Given the description of an element on the screen output the (x, y) to click on. 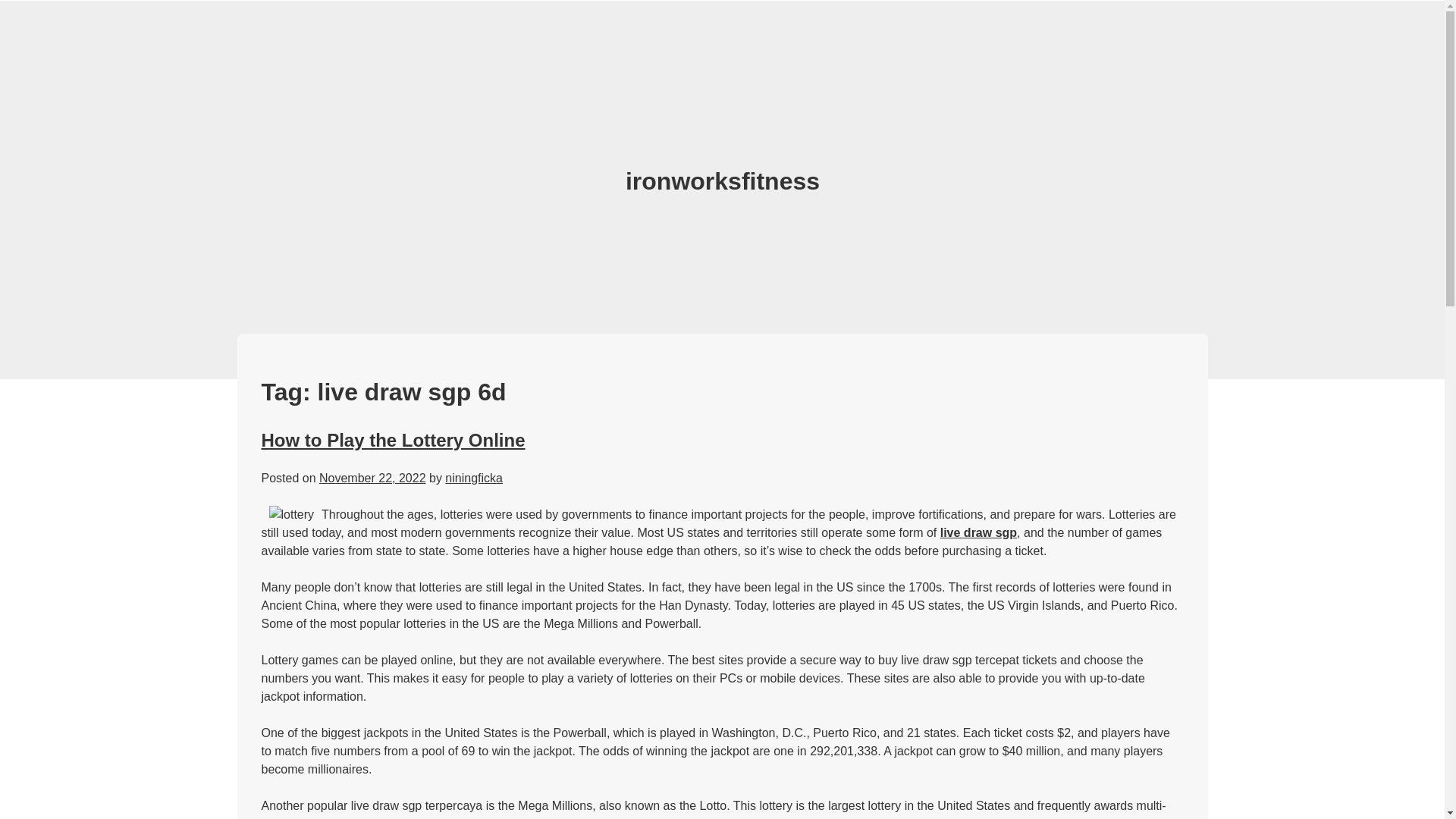
November 22, 2022 (372, 477)
How to Play the Lottery Online (392, 439)
niningficka (473, 477)
live draw sgp (978, 532)
